Given the description of an element on the screen output the (x, y) to click on. 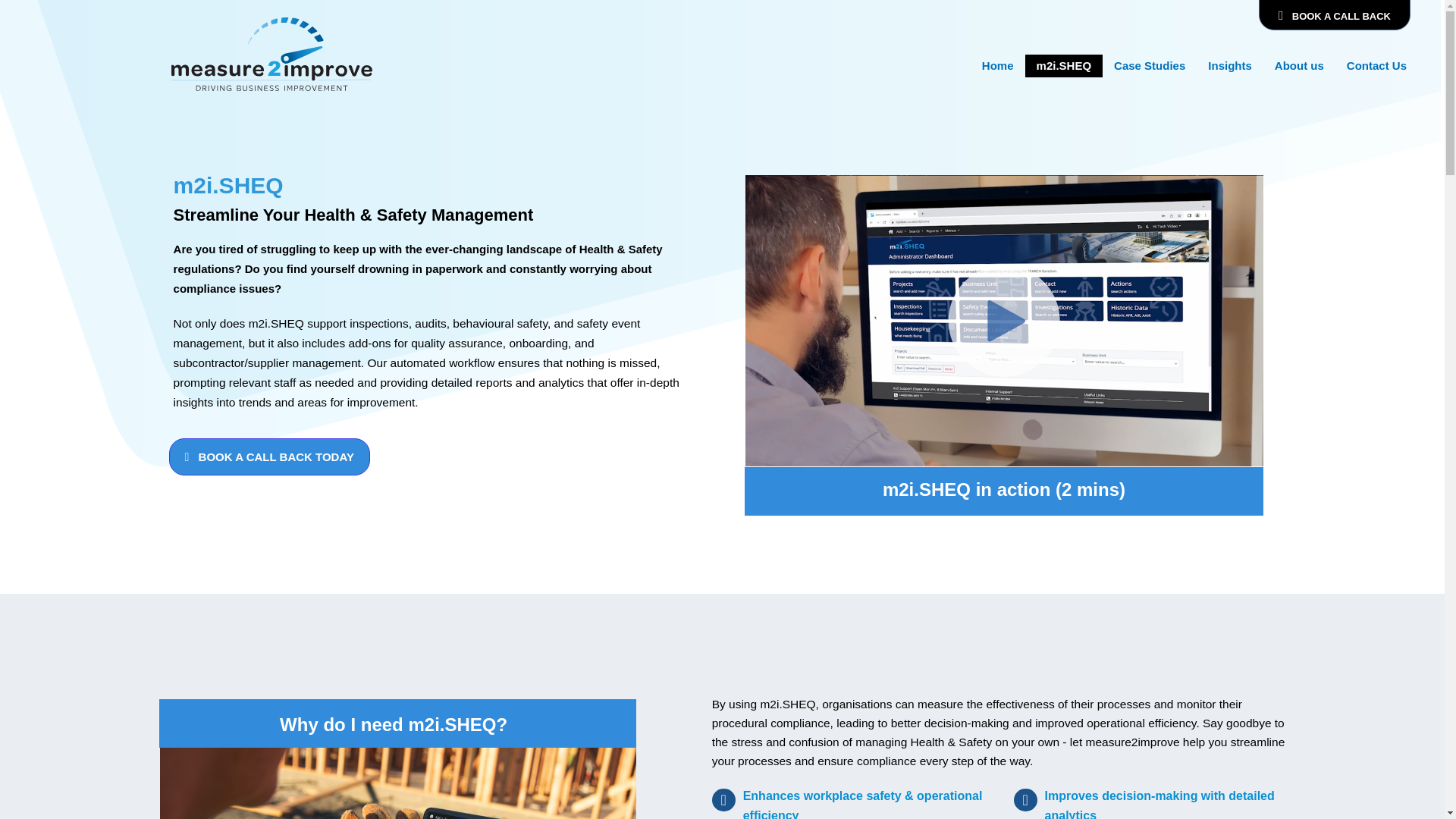
Home (998, 65)
Case Studies (1149, 65)
m2i.SHEQ (1064, 65)
BOOK A CALL BACK TODAY (268, 456)
Contact Us (1376, 65)
About us (1299, 65)
Insights (1229, 65)
BOOK A CALL BACK (1334, 15)
